Given the description of an element on the screen output the (x, y) to click on. 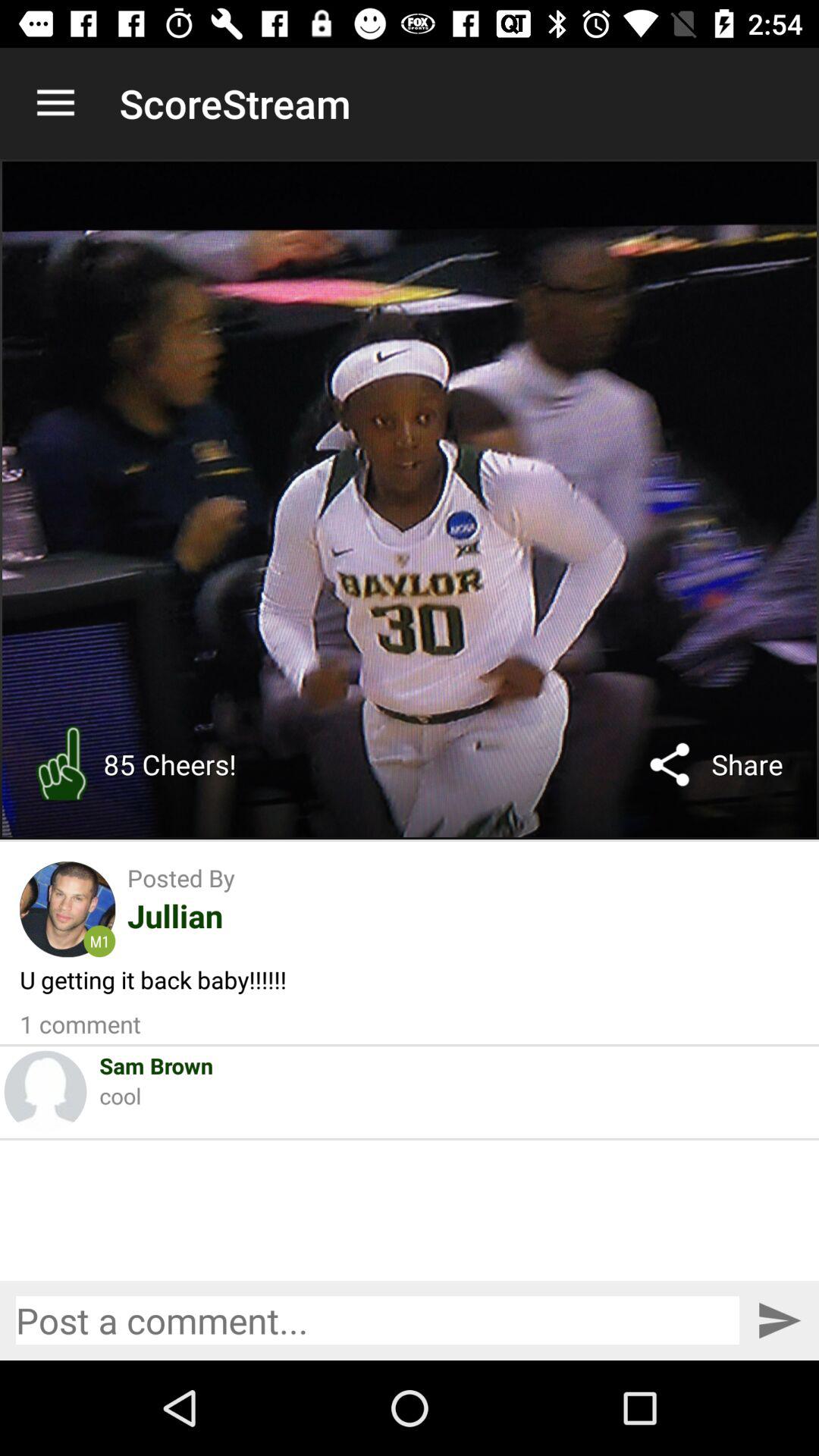
click the item next to scorestream (55, 103)
